Given the description of an element on the screen output the (x, y) to click on. 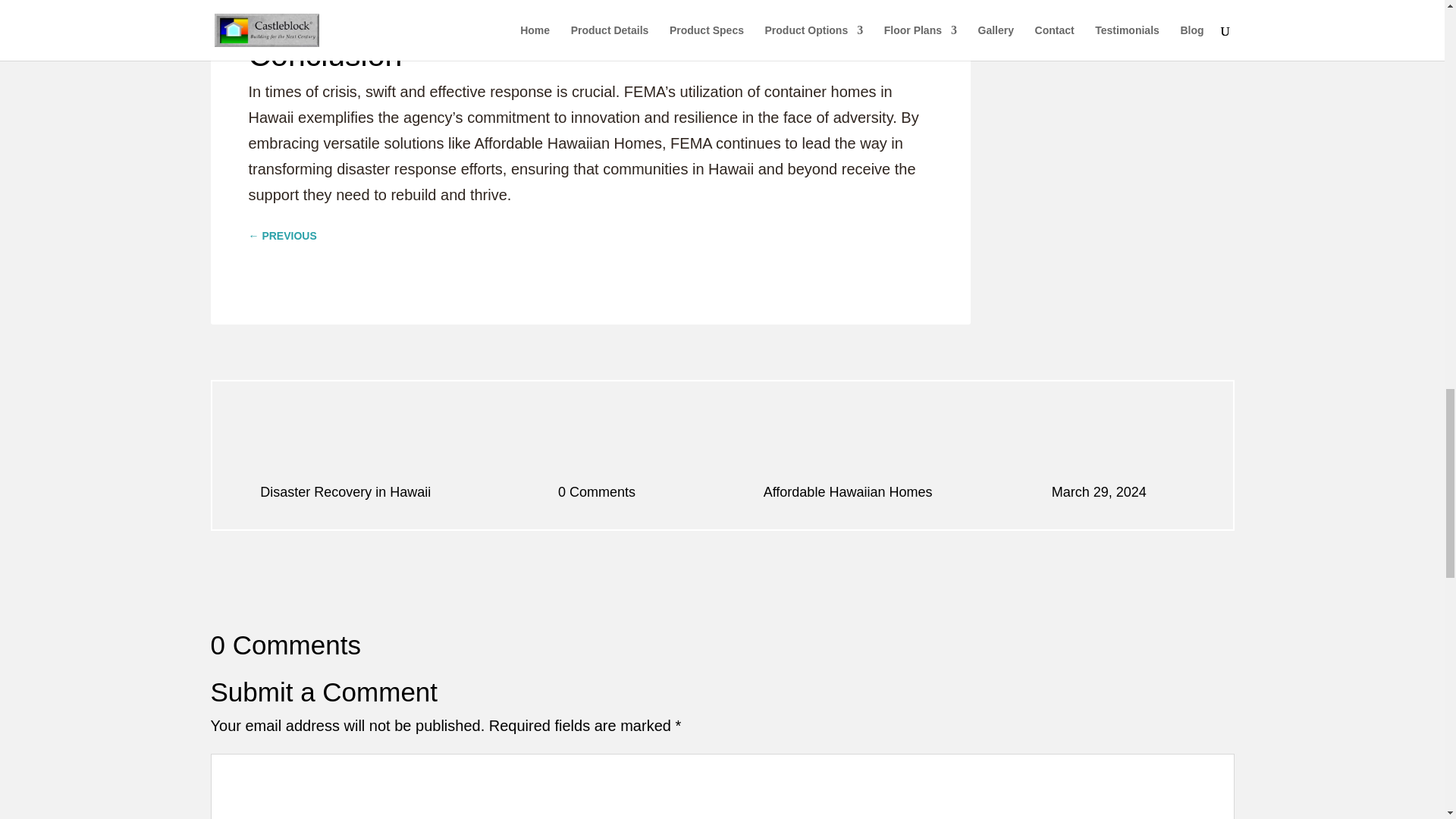
Disaster Recovery in Hawaii (345, 491)
